Given the description of an element on the screen output the (x, y) to click on. 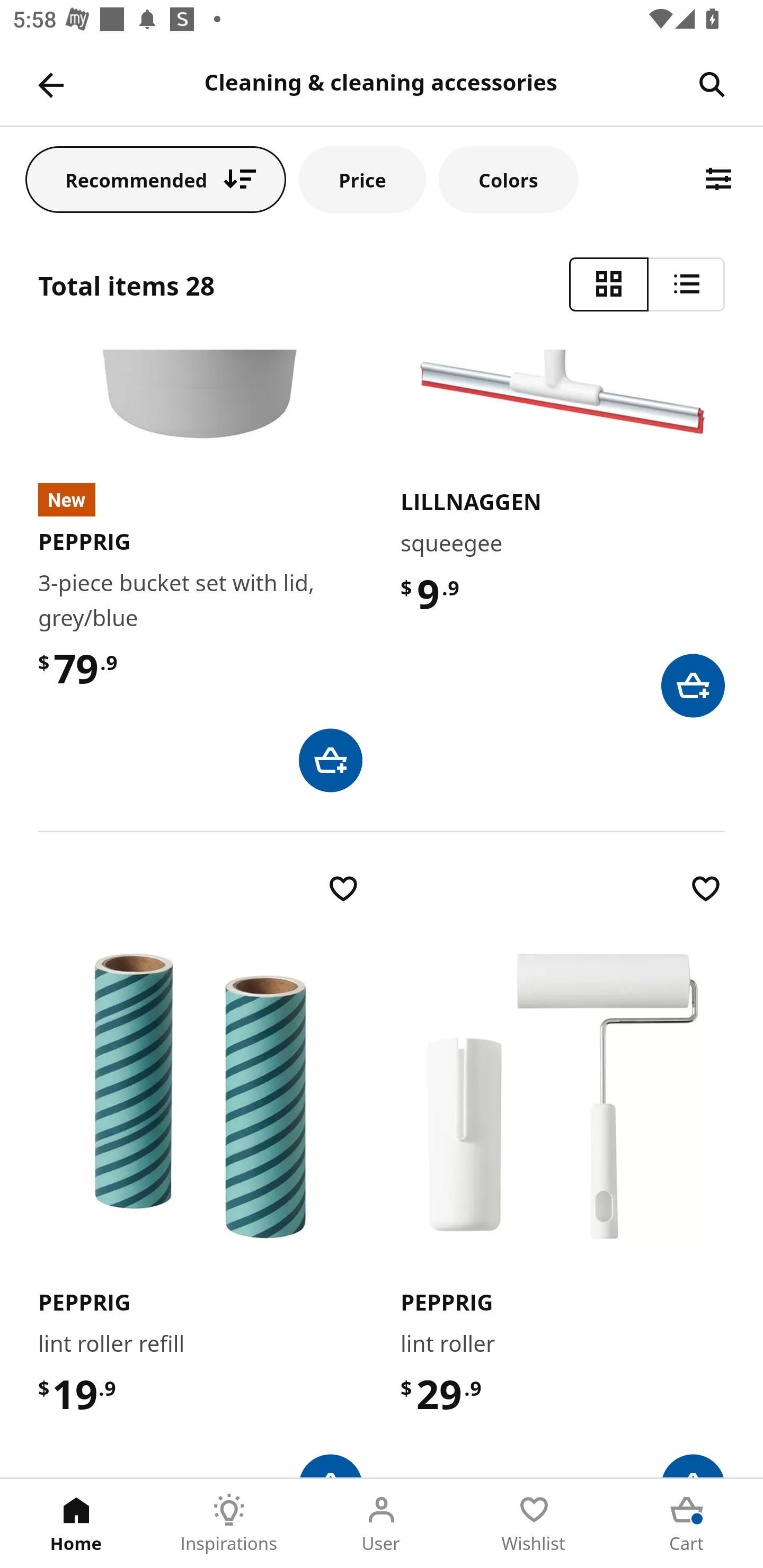
Recommended (155, 179)
Price (362, 179)
Colors (508, 179)
​L​I​L​L​N​A​G​G​E​N​
squeegee
$
9
.9 (562, 533)
​P​E​P​P​R​I​G​
lint roller refill
$
19
.9 (200, 1173)
​P​E​P​P​R​I​G​
lint roller
$
29
.9 (562, 1173)
Home
Tab 1 of 5 (76, 1522)
Inspirations
Tab 2 of 5 (228, 1522)
User
Tab 3 of 5 (381, 1522)
Wishlist
Tab 4 of 5 (533, 1522)
Cart
Tab 5 of 5 (686, 1522)
